Given the description of an element on the screen output the (x, y) to click on. 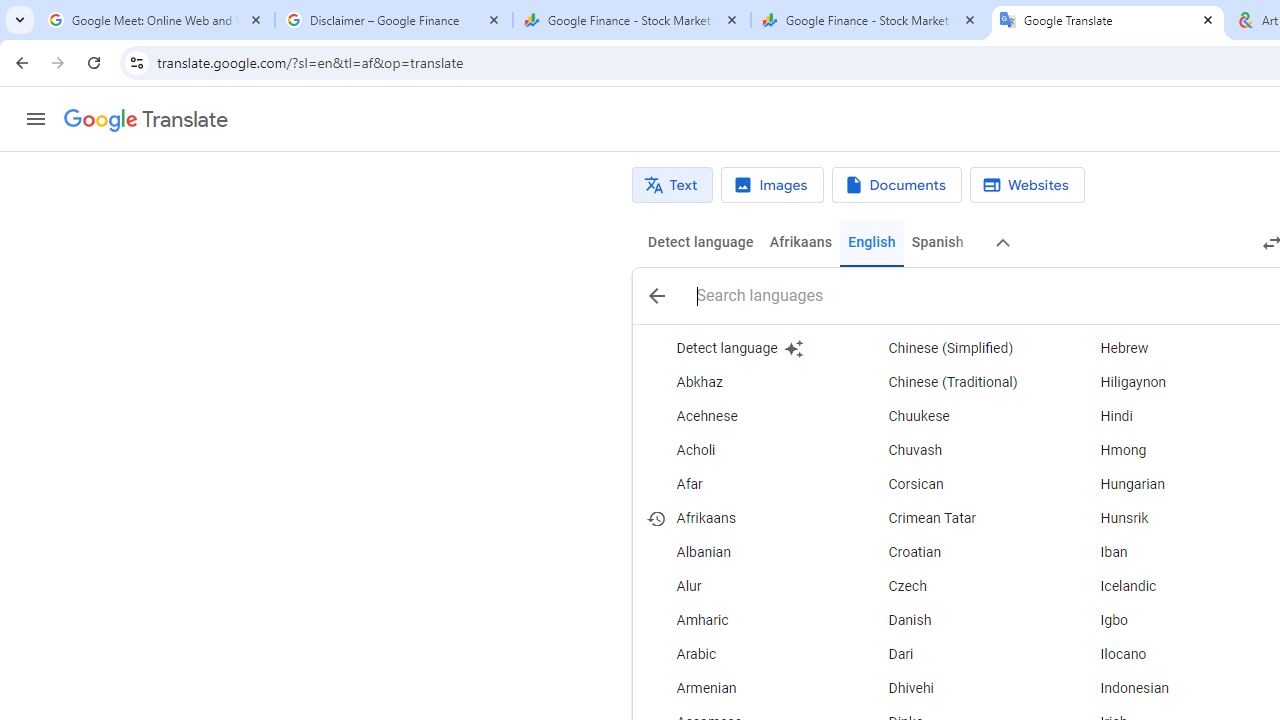
Abkhaz (745, 382)
Ilocano (1168, 655)
Acehnese (745, 416)
Chuvash (957, 450)
Hebrew (1168, 348)
Acholi (745, 450)
Chinese (Traditional) (957, 382)
Chuukese (957, 416)
Albanian (745, 552)
Text translation (672, 185)
Google Translate (145, 120)
